Given the description of an element on the screen output the (x, y) to click on. 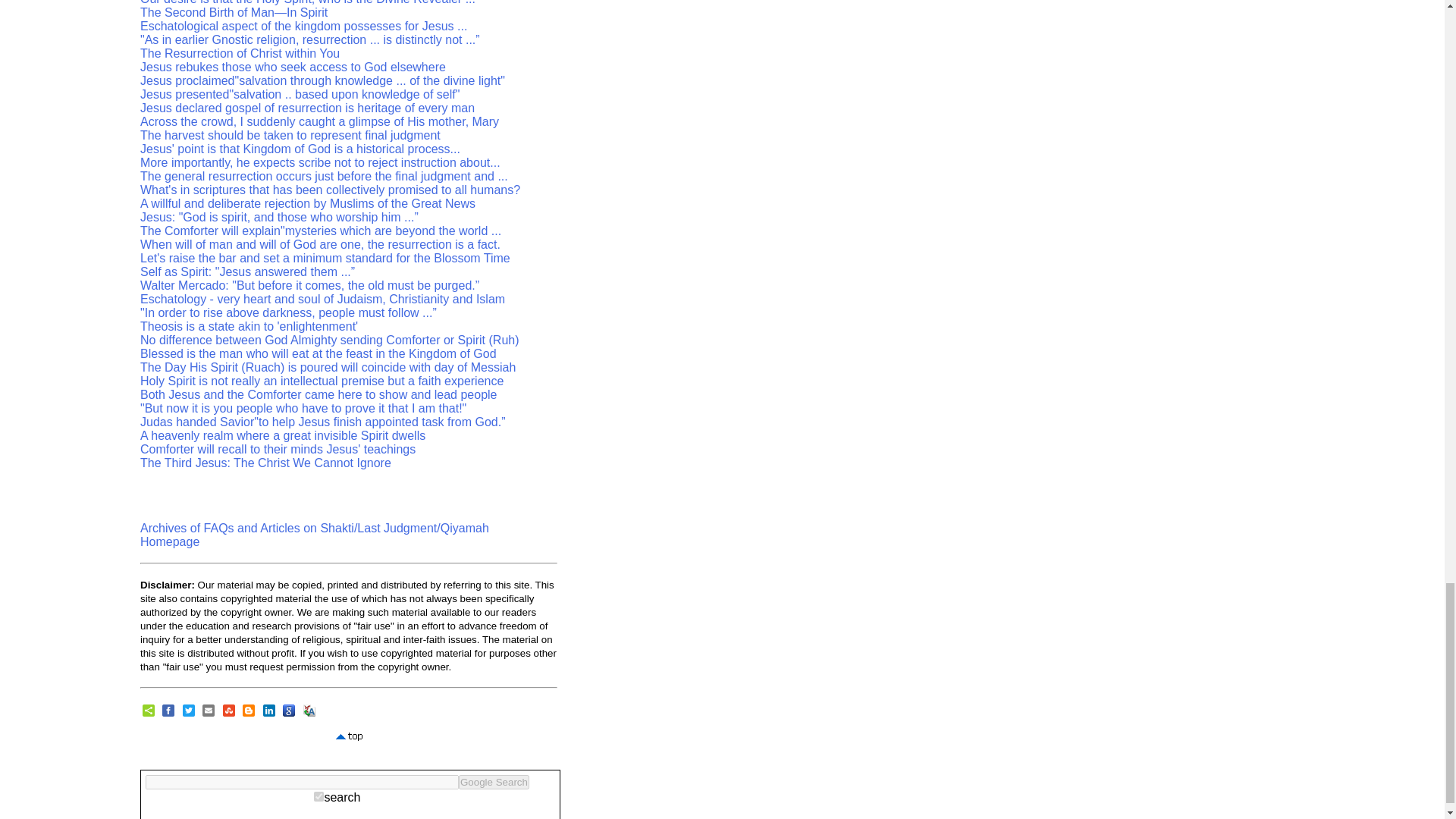
Theosis is a state akin to 'enlightenment' (248, 326)
Eschatological aspect of the kingdom possesses for Jesus ... (303, 25)
